Given the description of an element on the screen output the (x, y) to click on. 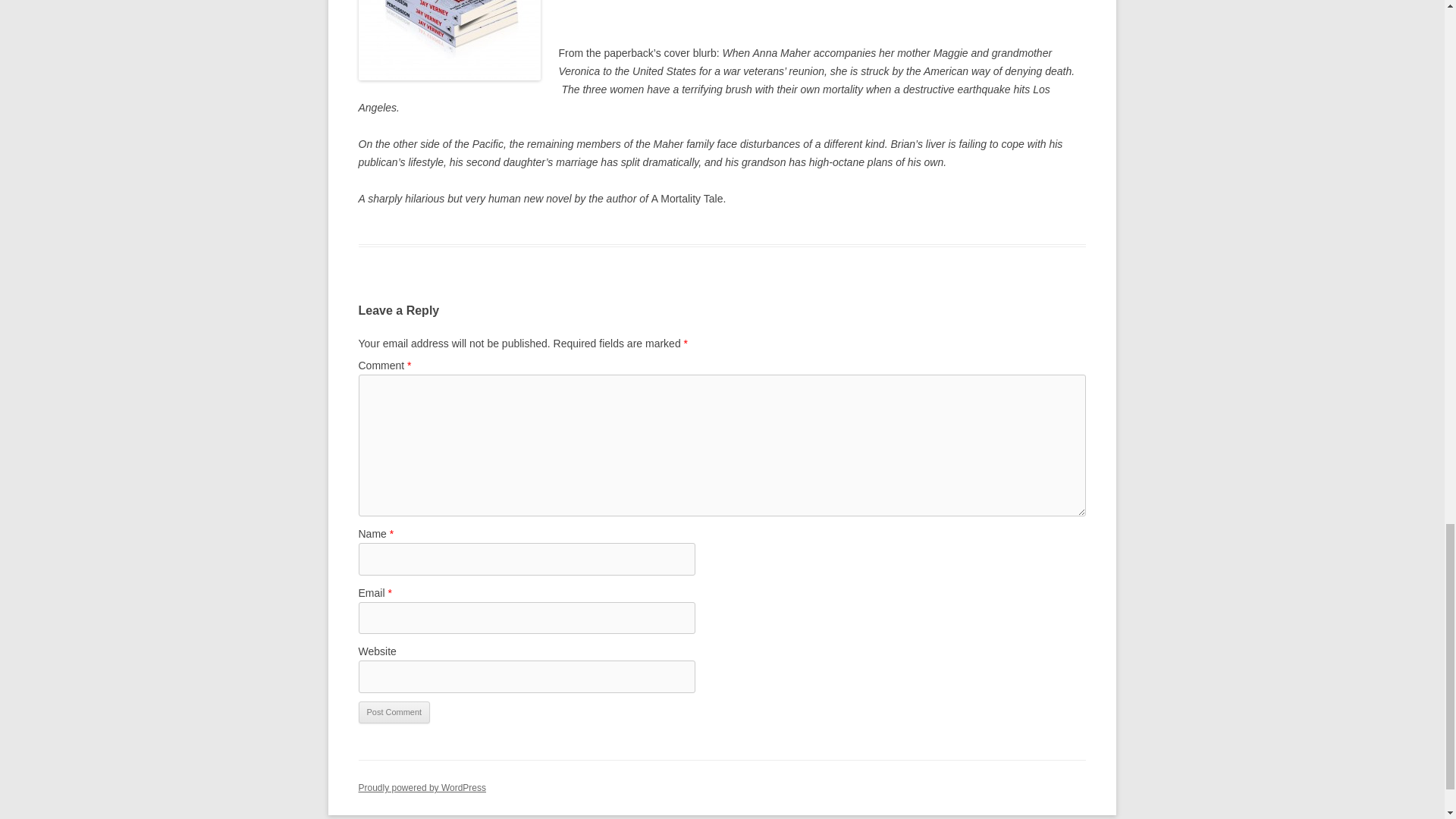
Proudly powered by WordPress (422, 787)
Post Comment (393, 712)
Semantic Personal Publishing Platform (422, 787)
Post Comment (393, 712)
